Given the description of an element on the screen output the (x, y) to click on. 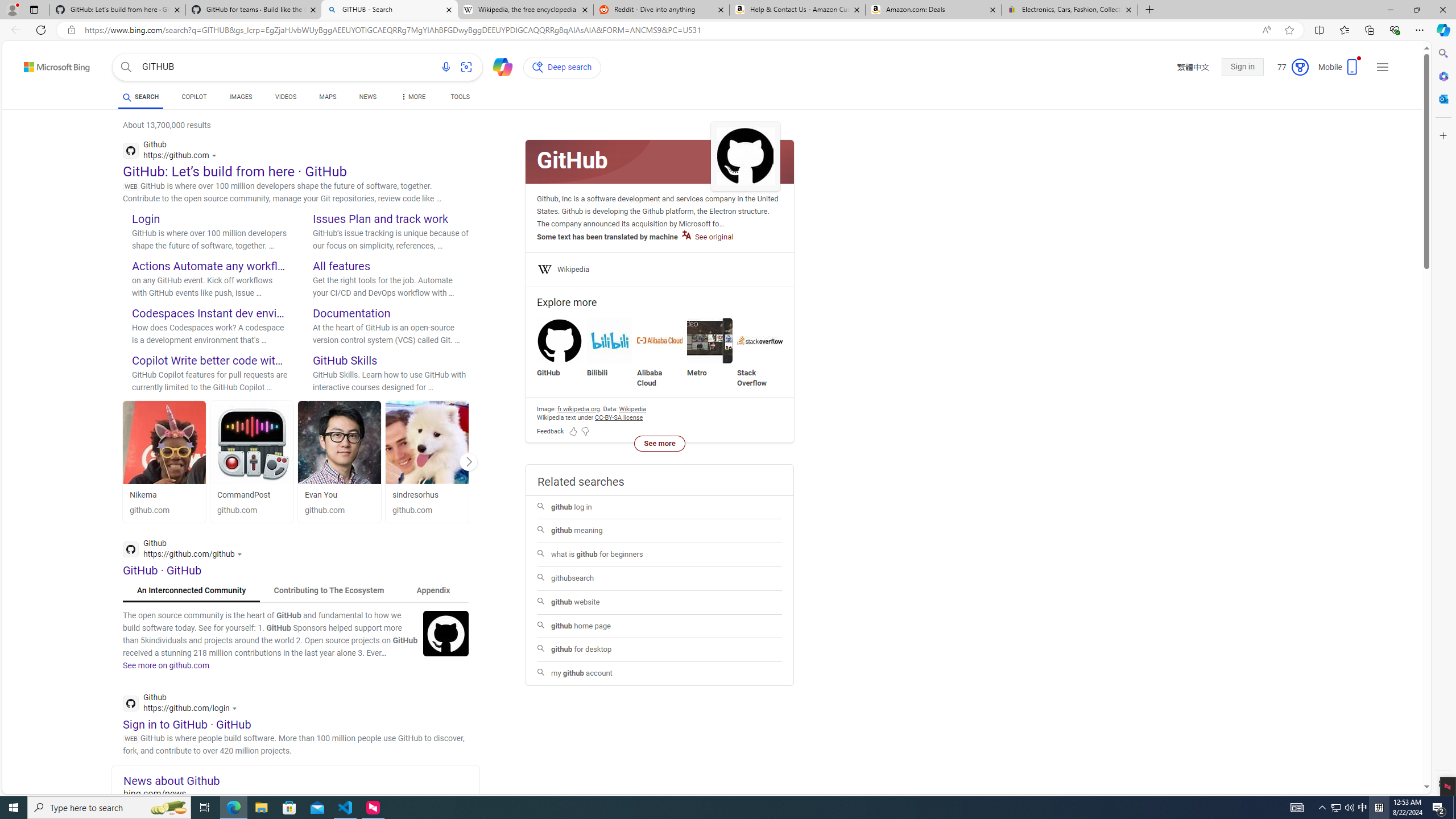
what is github for beginners (659, 554)
GITHUB - Search (390, 9)
SEARCH (140, 96)
Nikema (164, 494)
Evan You Evan You github.com (339, 461)
Appendix (432, 590)
GitHub (559, 347)
github for desktop (659, 649)
